Given the description of an element on the screen output the (x, y) to click on. 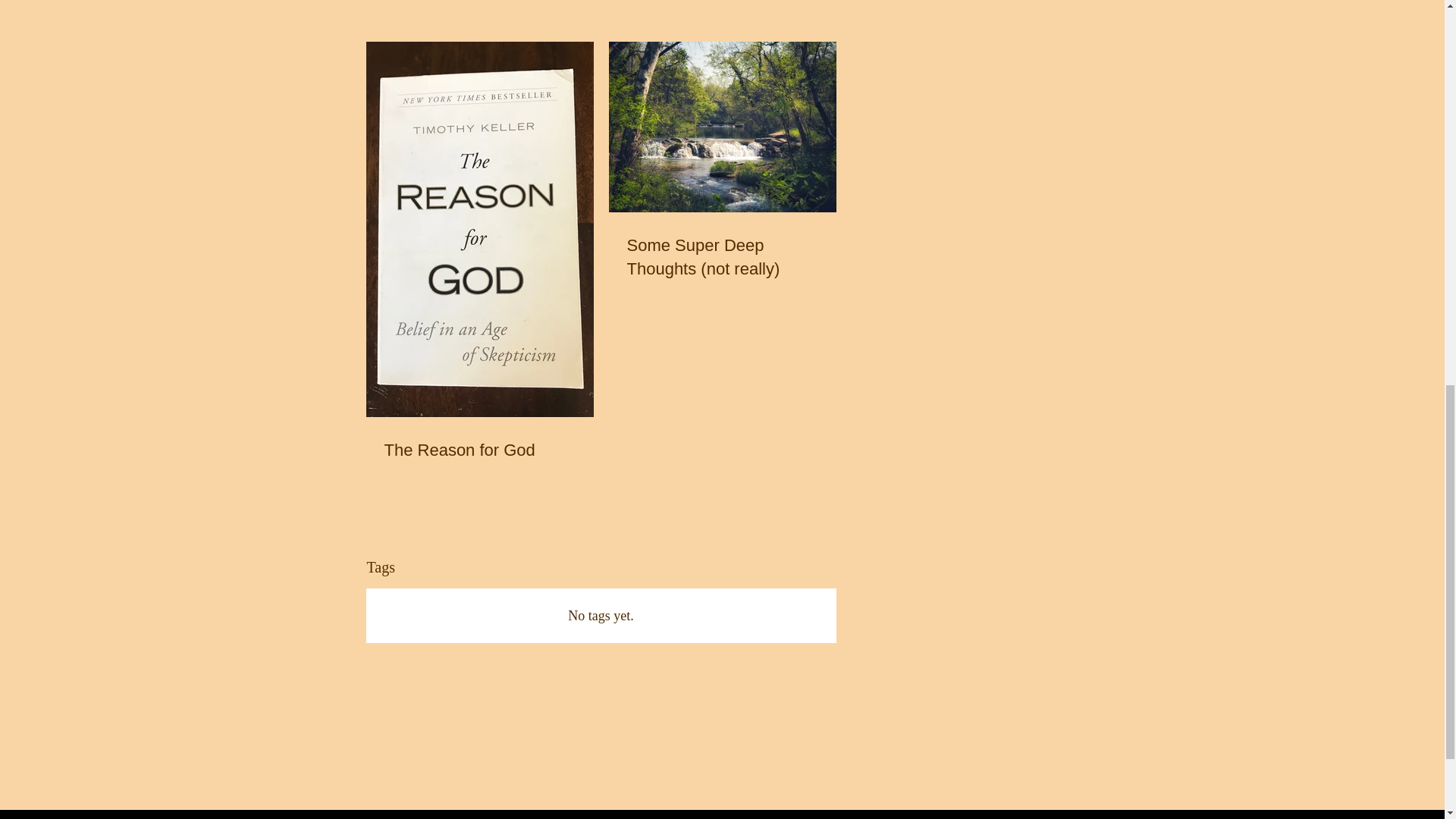
The Reason for God (479, 450)
